Given the description of an element on the screen output the (x, y) to click on. 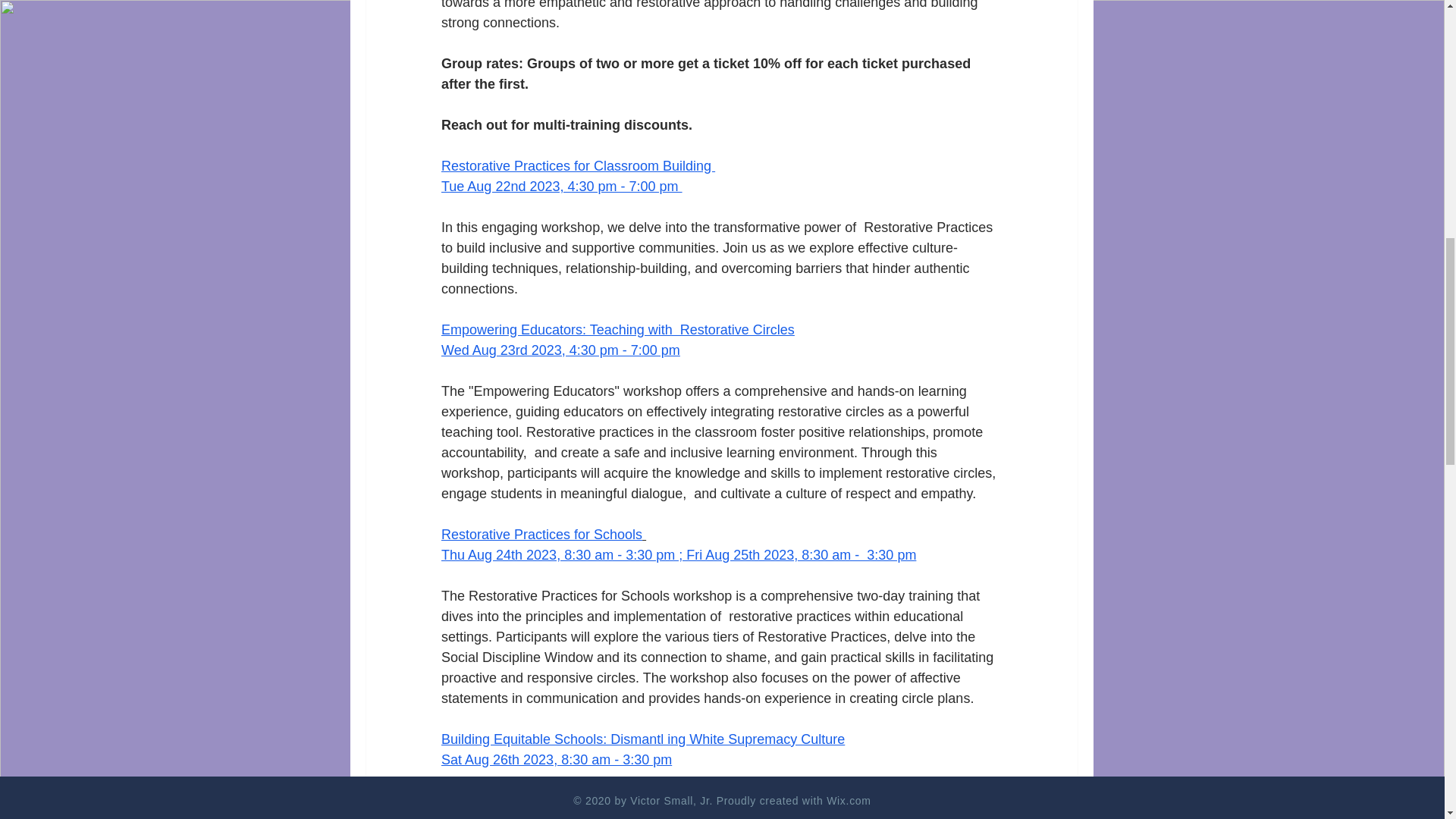
Tue Aug 22nd 2023, 4:30 pm - 7:00 pm  (561, 186)
Sat Aug 26th 2023, 8:30 am - 3:30 pm (556, 759)
Restorative Practices for Classroom Building  (577, 165)
Empowering Educators: Teaching with  Restorative Circles (617, 329)
Restorative Practices for Schools (541, 534)
Wed Aug 23rd 2023, 4:30 pm - 7:00 pm (560, 350)
